Given the description of an element on the screen output the (x, y) to click on. 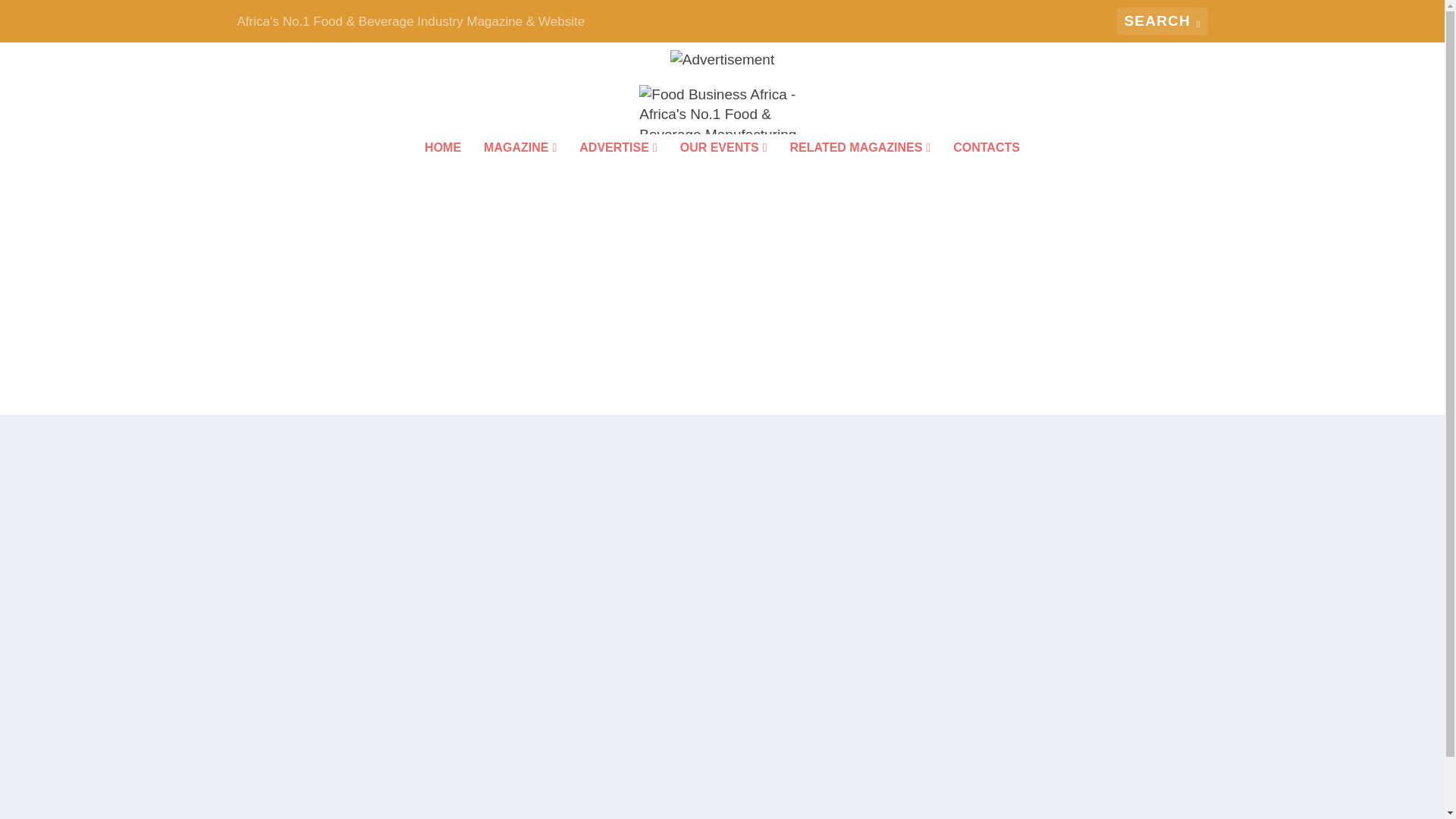
MAGAZINE (519, 167)
ADVERTISE (617, 167)
Search for: (1161, 21)
OUR EVENTS (723, 167)
RELATED MAGAZINES (860, 167)
CONTACTS (986, 167)
